Given the description of an element on the screen output the (x, y) to click on. 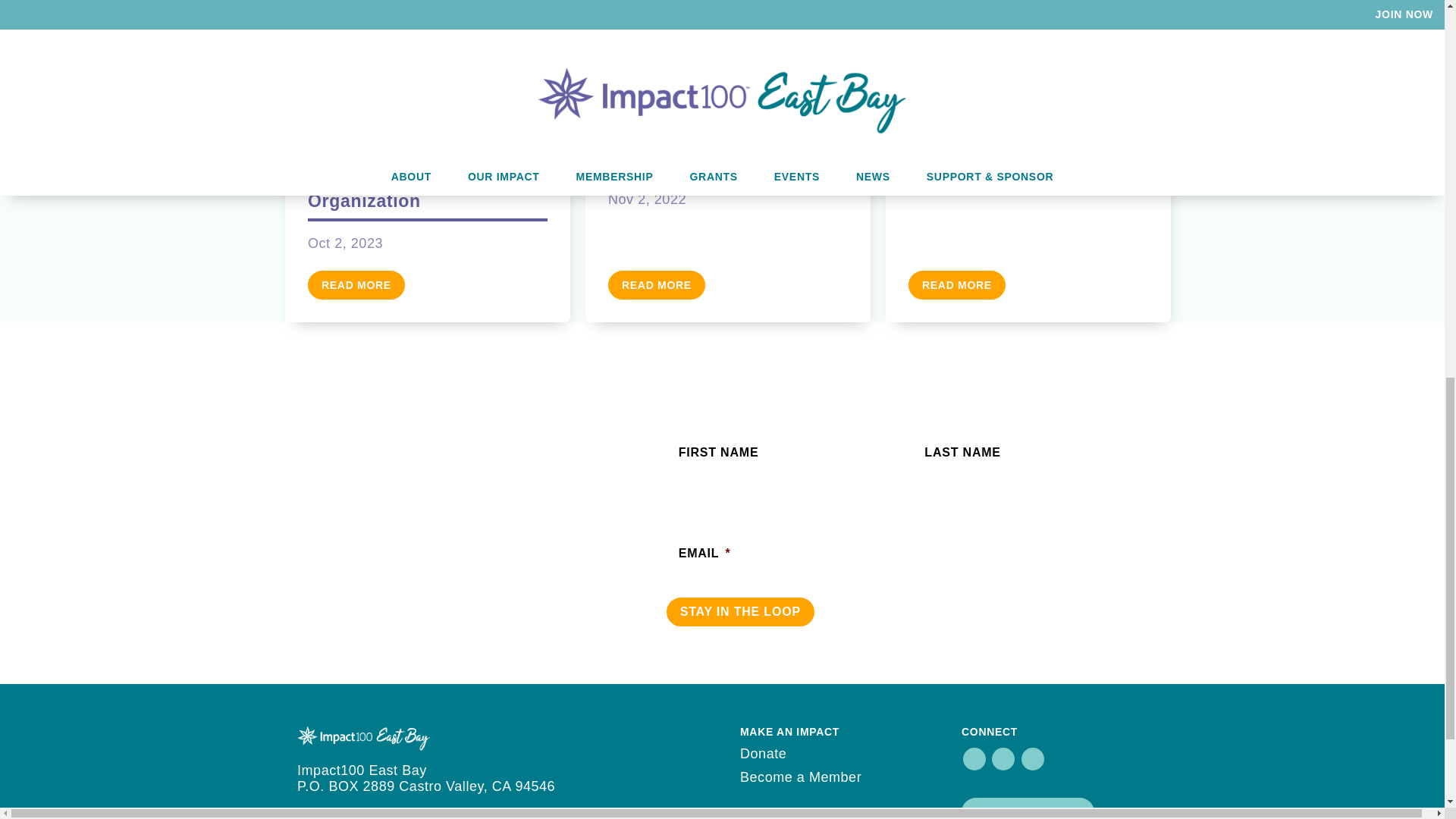
READ MORE (957, 285)
Stay in the Loop (739, 611)
READ MORE (656, 285)
READ MORE (355, 285)
Stay in the Loop (739, 611)
